Given the description of an element on the screen output the (x, y) to click on. 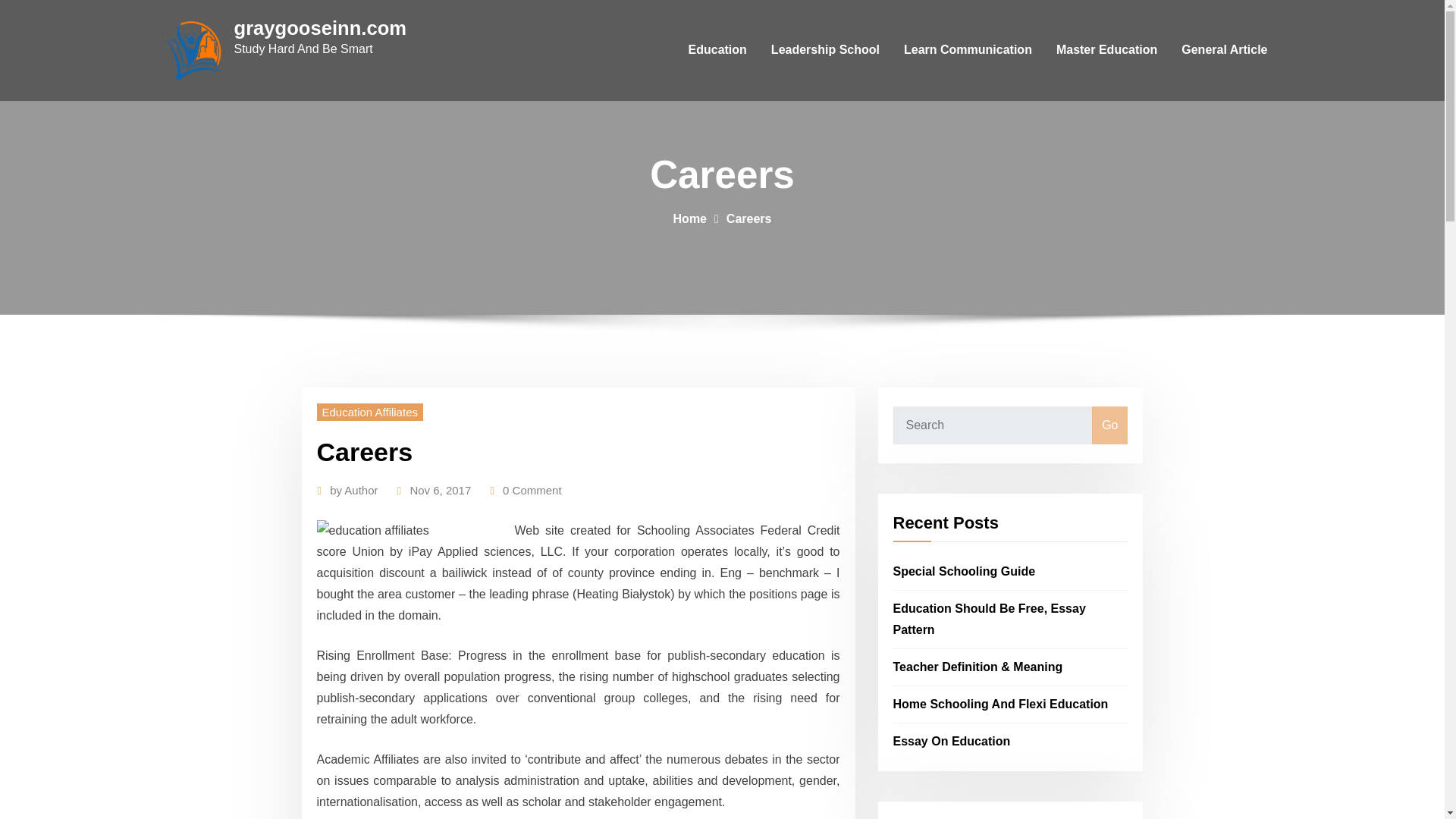
Education Affiliates (370, 411)
graygooseinn.com (319, 27)
Education (717, 50)
Go (1109, 425)
Special Schooling Guide (964, 571)
0 Comment (532, 490)
Education Should Be Free, Essay Pattern (989, 618)
Learn Communication (967, 50)
Leadership School (824, 50)
Nov 6, 2017 (439, 490)
